Given the description of an element on the screen output the (x, y) to click on. 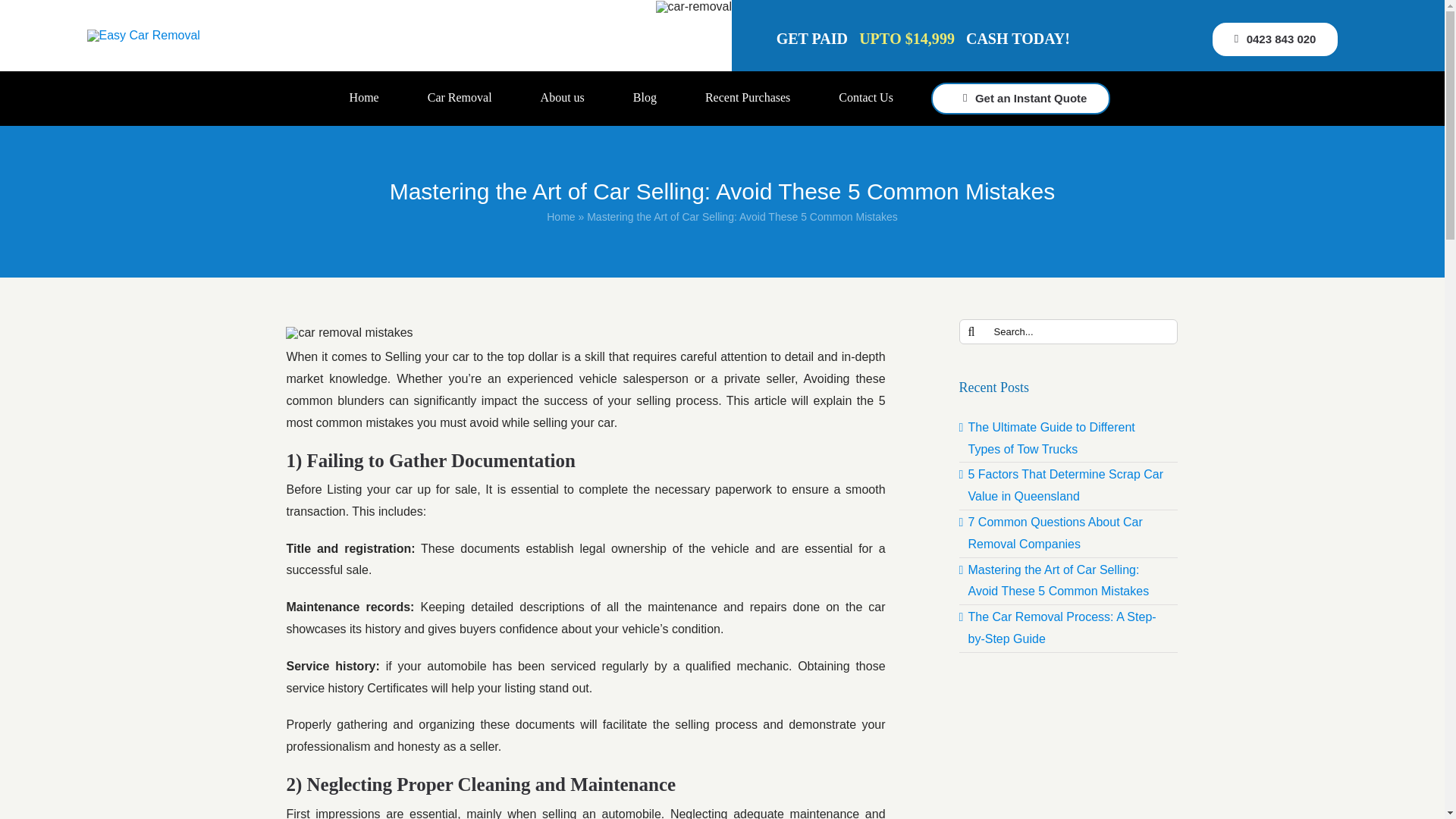
Contact Us (866, 98)
0423 843 020 (1275, 39)
About us (562, 98)
Recent Purchases (747, 98)
car-removal (694, 6)
Blog (644, 98)
Get an Instant Quote (1020, 98)
Home (364, 98)
Car Removal (459, 98)
car removal mistakes (348, 332)
